Given the description of an element on the screen output the (x, y) to click on. 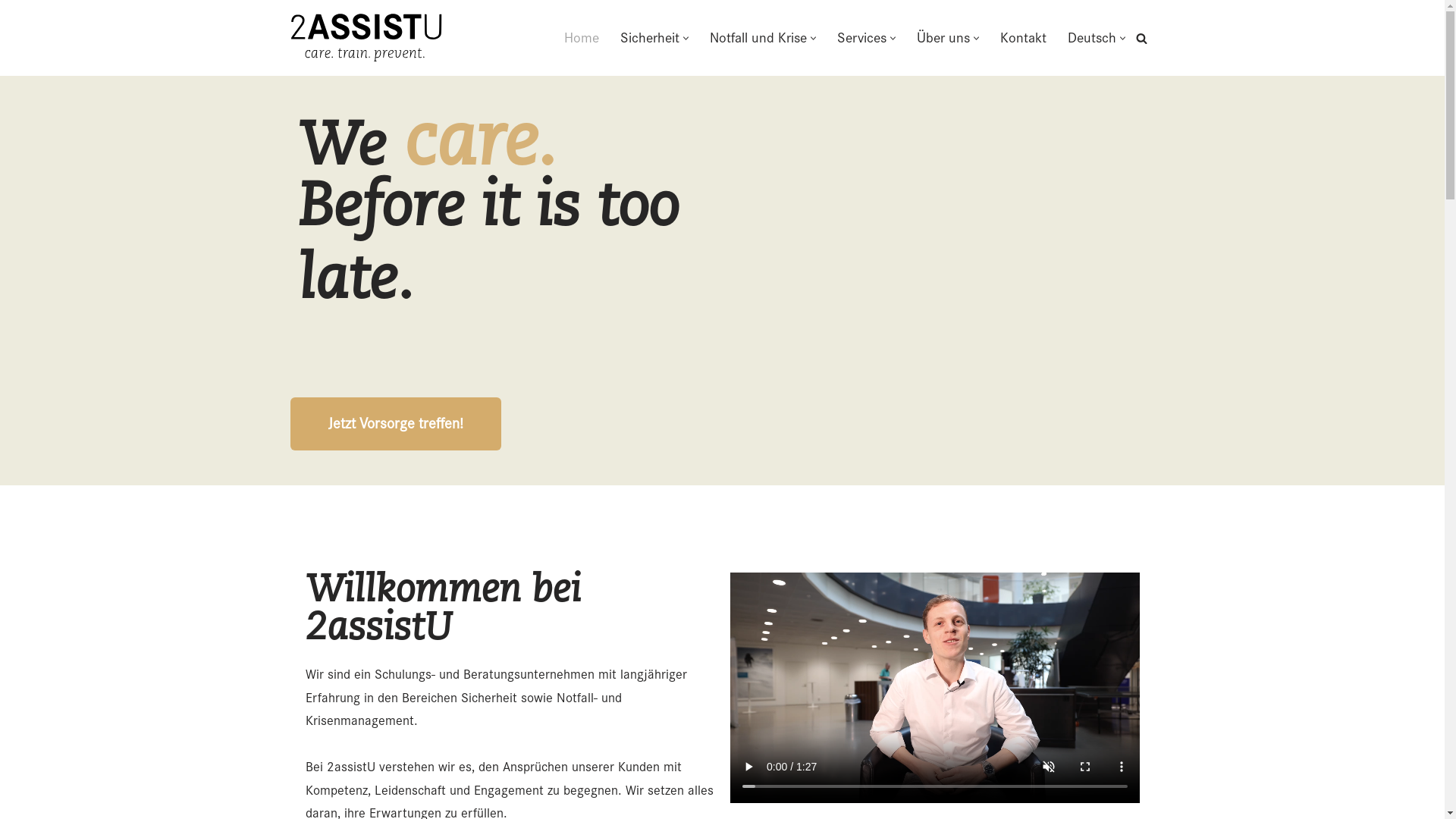
Home Element type: text (581, 37)
Deutsch Element type: text (1091, 37)
Zum Inhalt springen Element type: text (11, 31)
Notfall und Krise Element type: text (757, 37)
Sicherheit Element type: text (649, 37)
Services Element type: text (861, 37)
Kontakt Element type: text (1022, 37)
Jetzt Vorsorge treffen! Element type: text (394, 423)
